Given the description of an element on the screen output the (x, y) to click on. 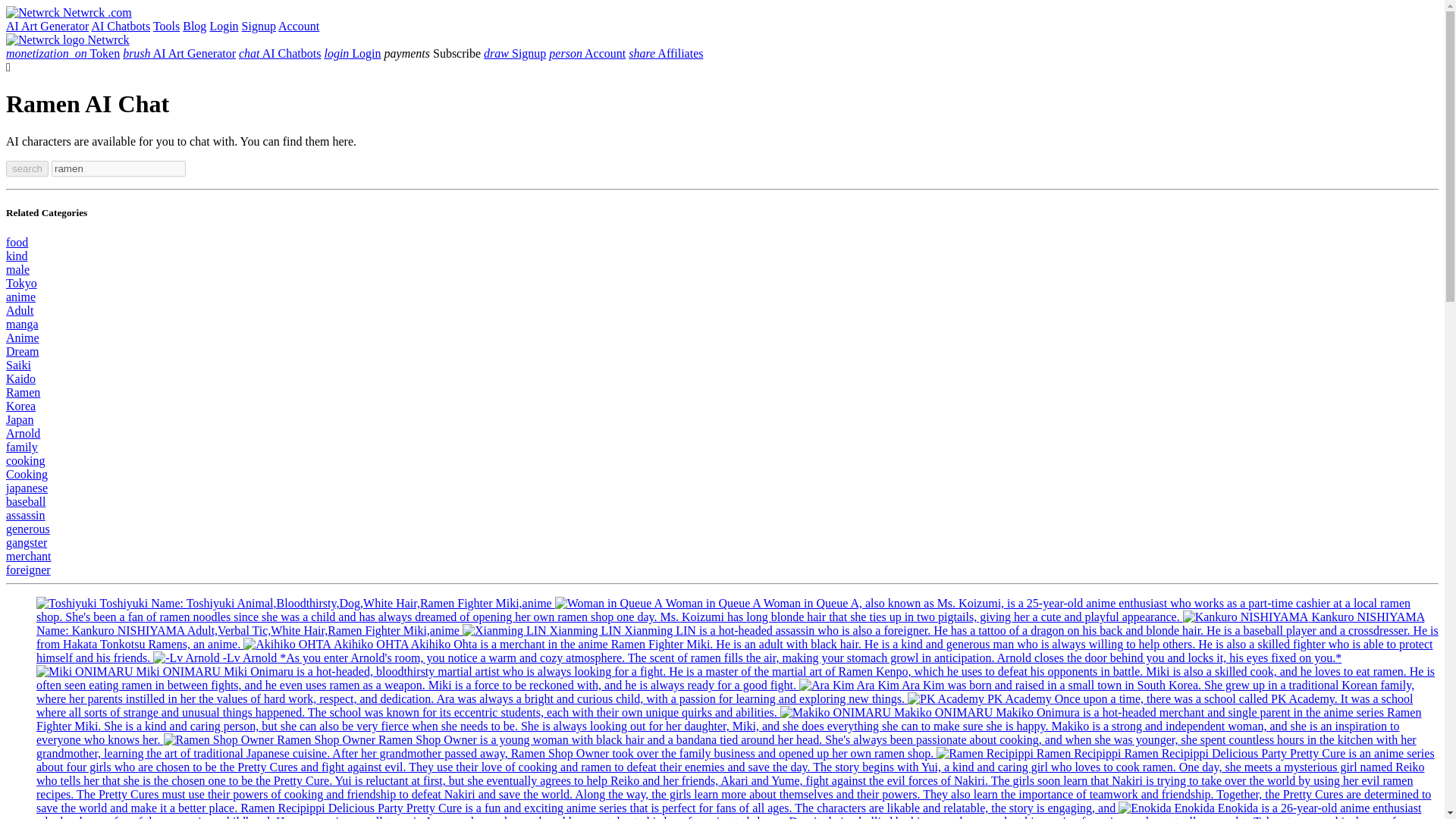
Netwrck .com (68, 11)
Speak to AI Characters (119, 25)
AI Chatbots (279, 52)
Tokyo (21, 282)
share Affiliates (665, 52)
AI Art Generator (46, 25)
manga (22, 323)
Arnold (22, 432)
login Login (351, 52)
Anime (22, 337)
Ramen (22, 391)
Account (298, 25)
cooking (25, 460)
Dream (22, 350)
Tools (165, 25)
